Given the description of an element on the screen output the (x, y) to click on. 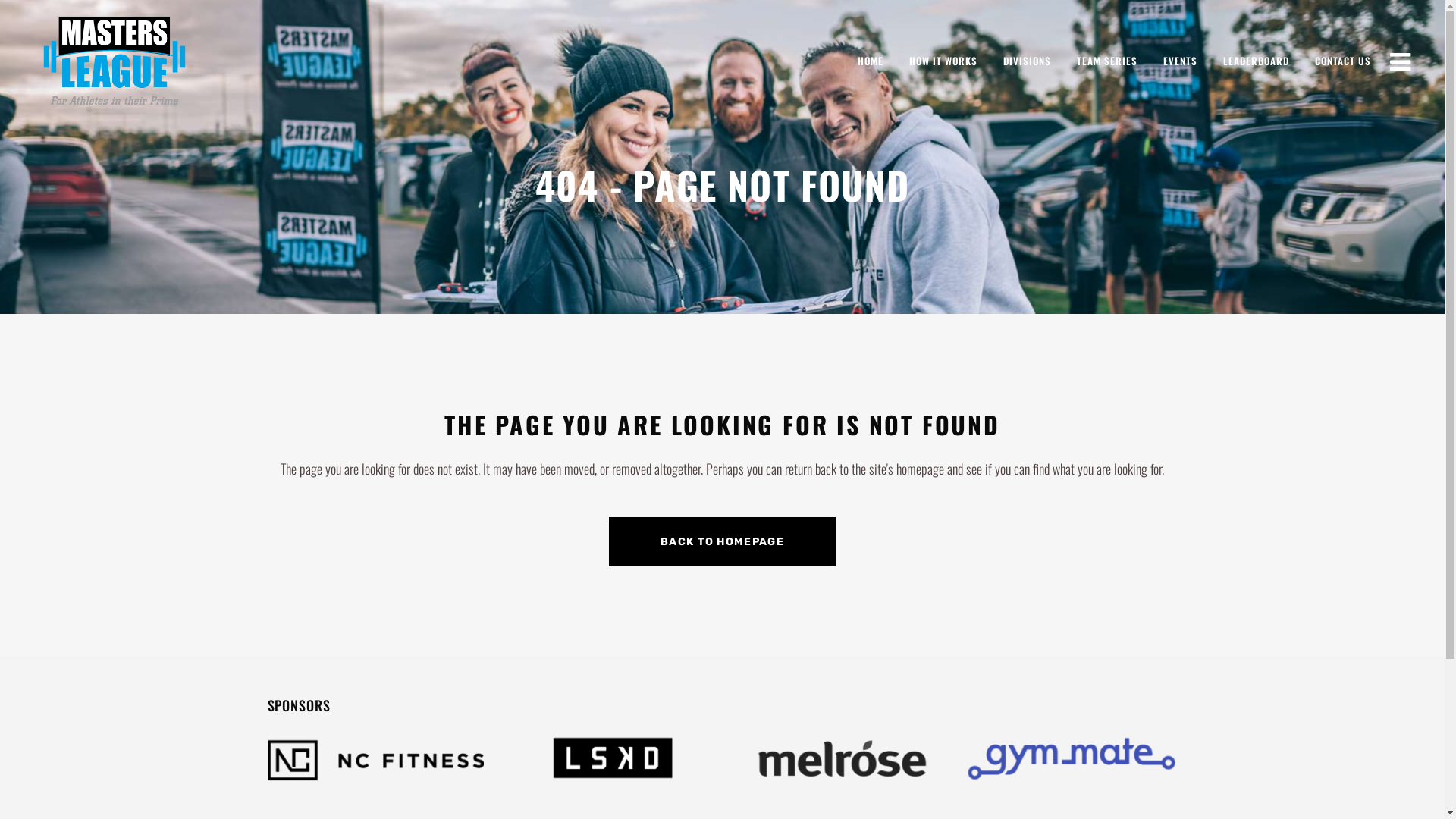
CONTACT US Element type: text (1342, 60)
LEADERBOARD Element type: text (1256, 60)
DIVISIONS Element type: text (1026, 60)
BACK TO HOMEPAGE Element type: text (721, 541)
TEAM SERIES Element type: text (1106, 60)
EVENTS Element type: text (1180, 60)
HOW IT WORKS Element type: text (943, 60)
HOME Element type: text (870, 60)
